Given the description of an element on the screen output the (x, y) to click on. 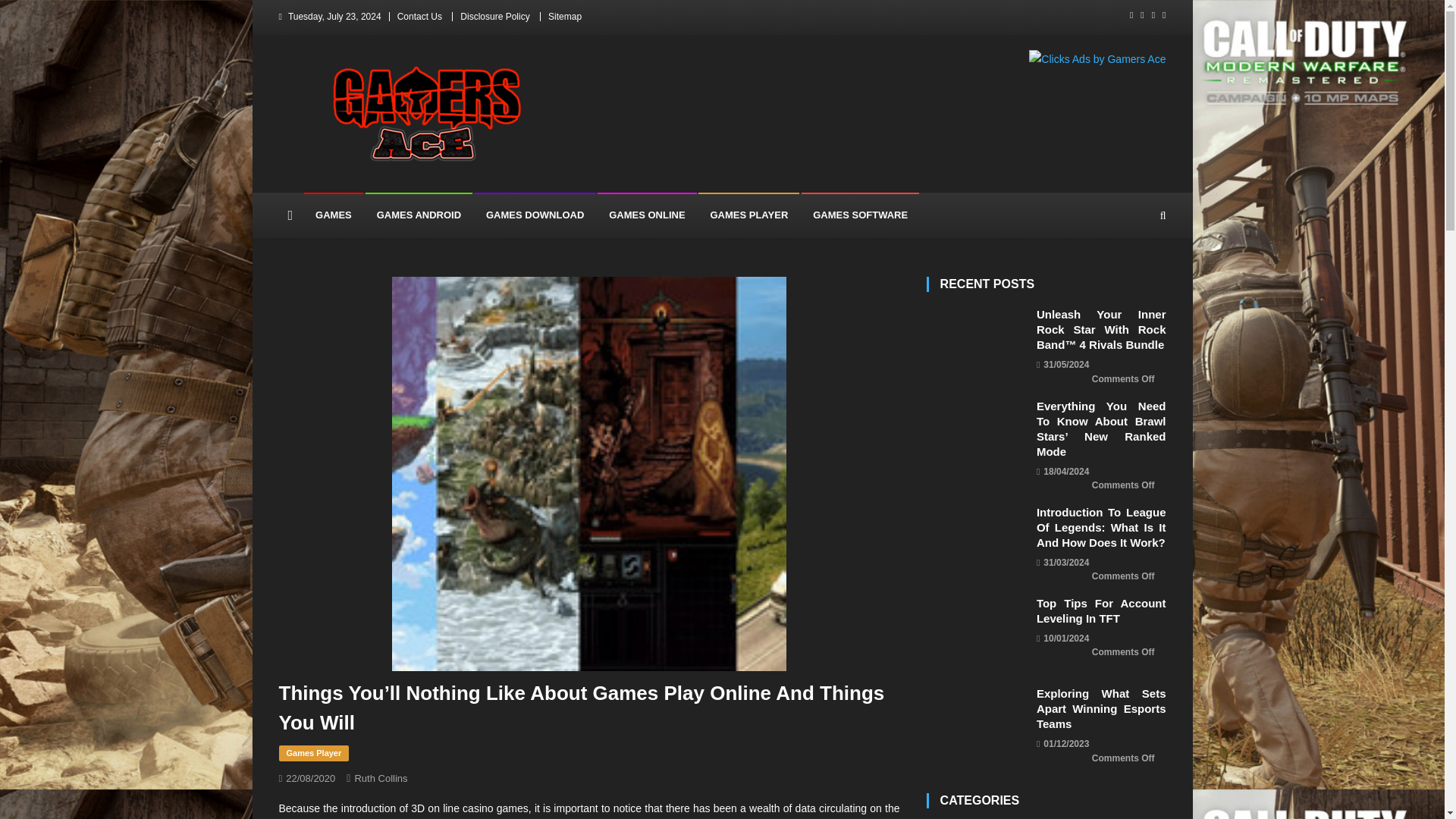
Ruth Collins (380, 778)
Gamers Ace (349, 176)
Games Player (314, 753)
GAMES SOFTWARE (860, 215)
GAMES ONLINE (645, 215)
GAMES ANDROID (418, 215)
GAMES DOWNLOAD (534, 215)
Top Tips For Account Leveling in TFT (976, 633)
GAMES PLAYER (748, 215)
Exploring What Sets Apart Winning Esports Teams (976, 724)
Search (1133, 277)
GAMES (333, 215)
